Given the description of an element on the screen output the (x, y) to click on. 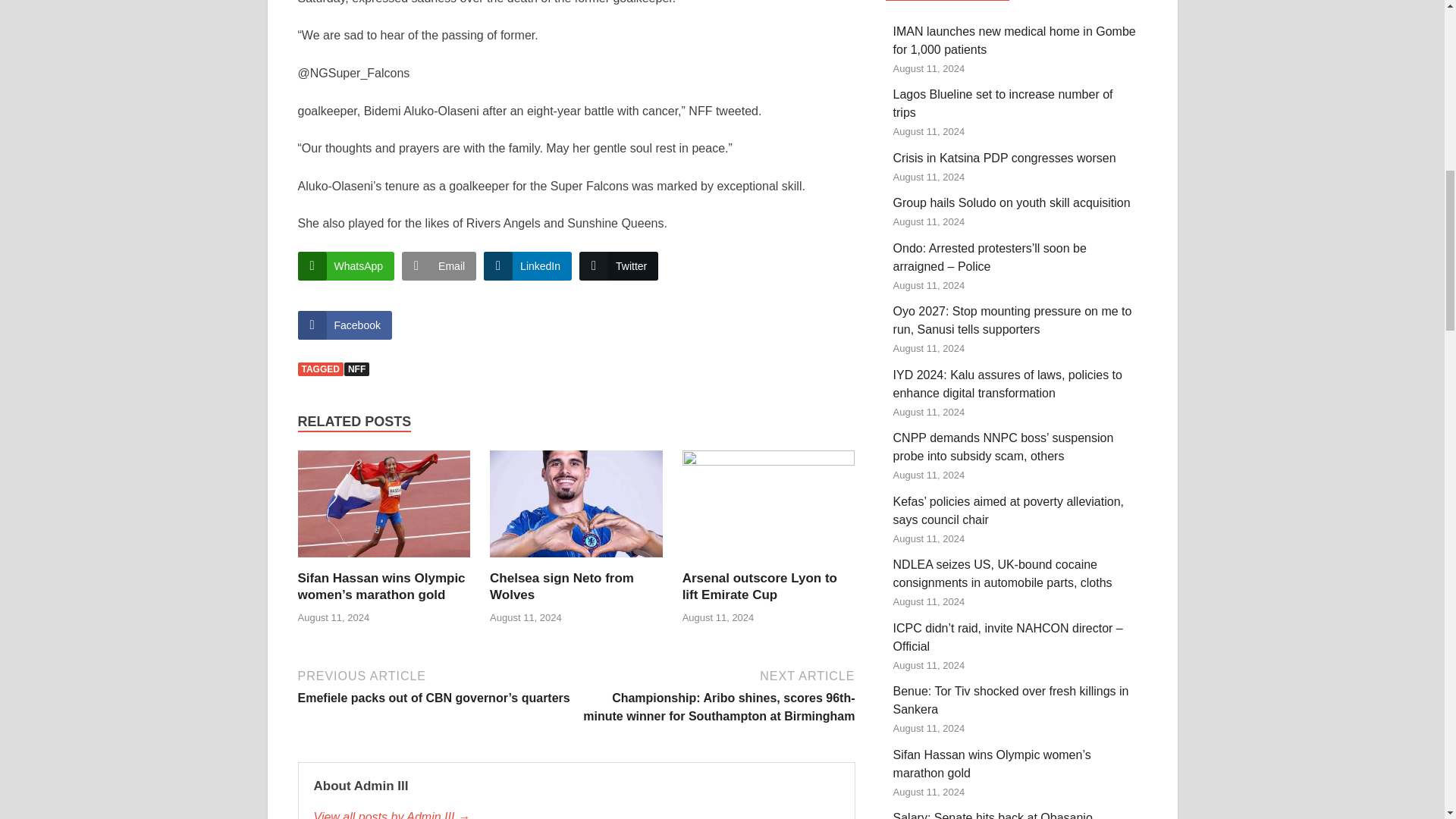
Chelsea sign Neto from Wolves (575, 509)
Chelsea sign Neto from Wolves (561, 585)
Arsenal outscore Lyon to lift Emirate Cup (769, 509)
Admin III (577, 813)
Arsenal outscore Lyon to lift Emirate Cup (759, 585)
